Given the description of an element on the screen output the (x, y) to click on. 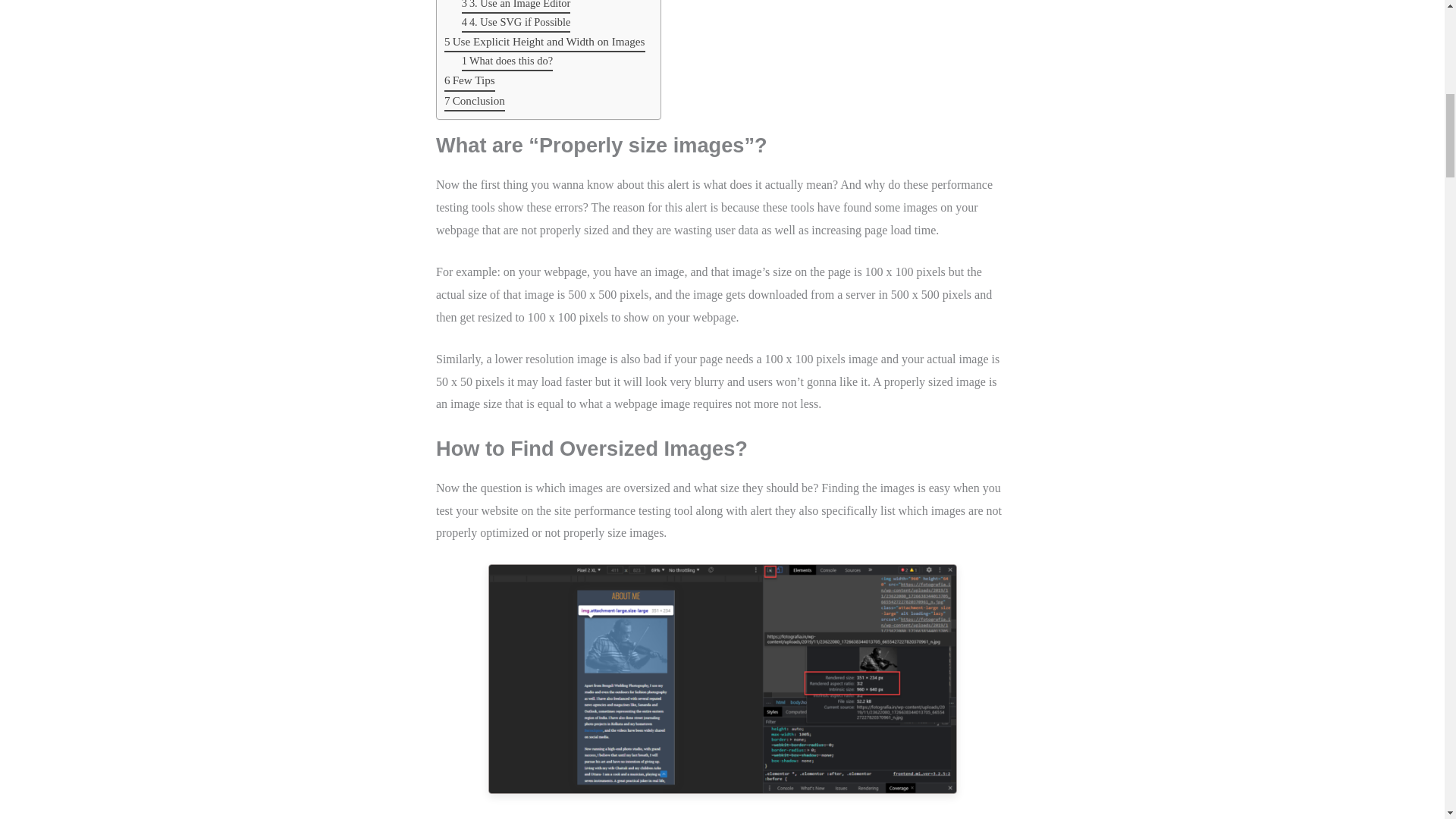
Use Explicit Height and Width on Images (544, 42)
Few Tips (469, 80)
Conclusion (474, 101)
Use Explicit Height and Width on Images (544, 42)
4. Use SVG if Possible (515, 22)
Few Tips (469, 80)
What does this do? (507, 61)
What does this do? (507, 61)
3. Use an Image Editor (515, 6)
4. Use SVG if Possible (515, 22)
3. Use an Image Editor (515, 6)
